Given the description of an element on the screen output the (x, y) to click on. 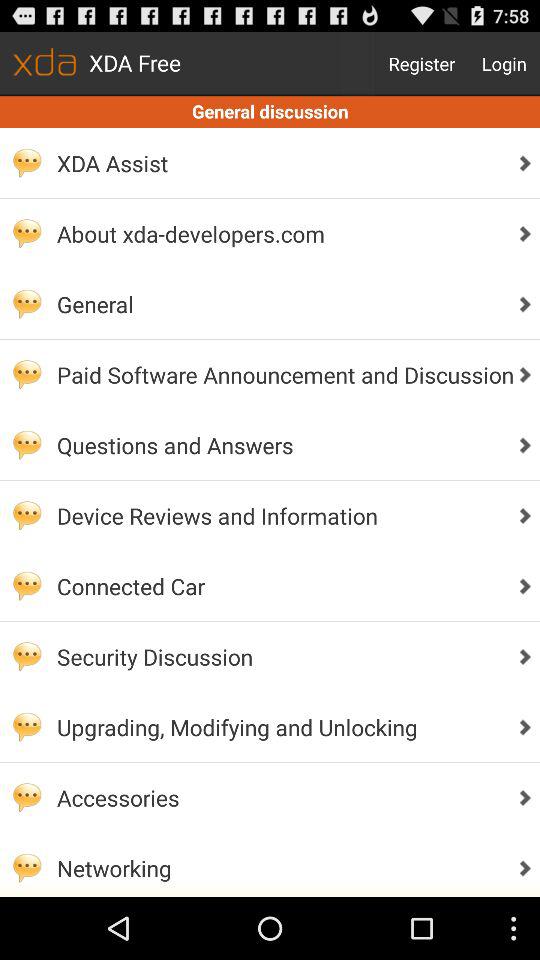
flip to the questions and answers item (280, 444)
